Given the description of an element on the screen output the (x, y) to click on. 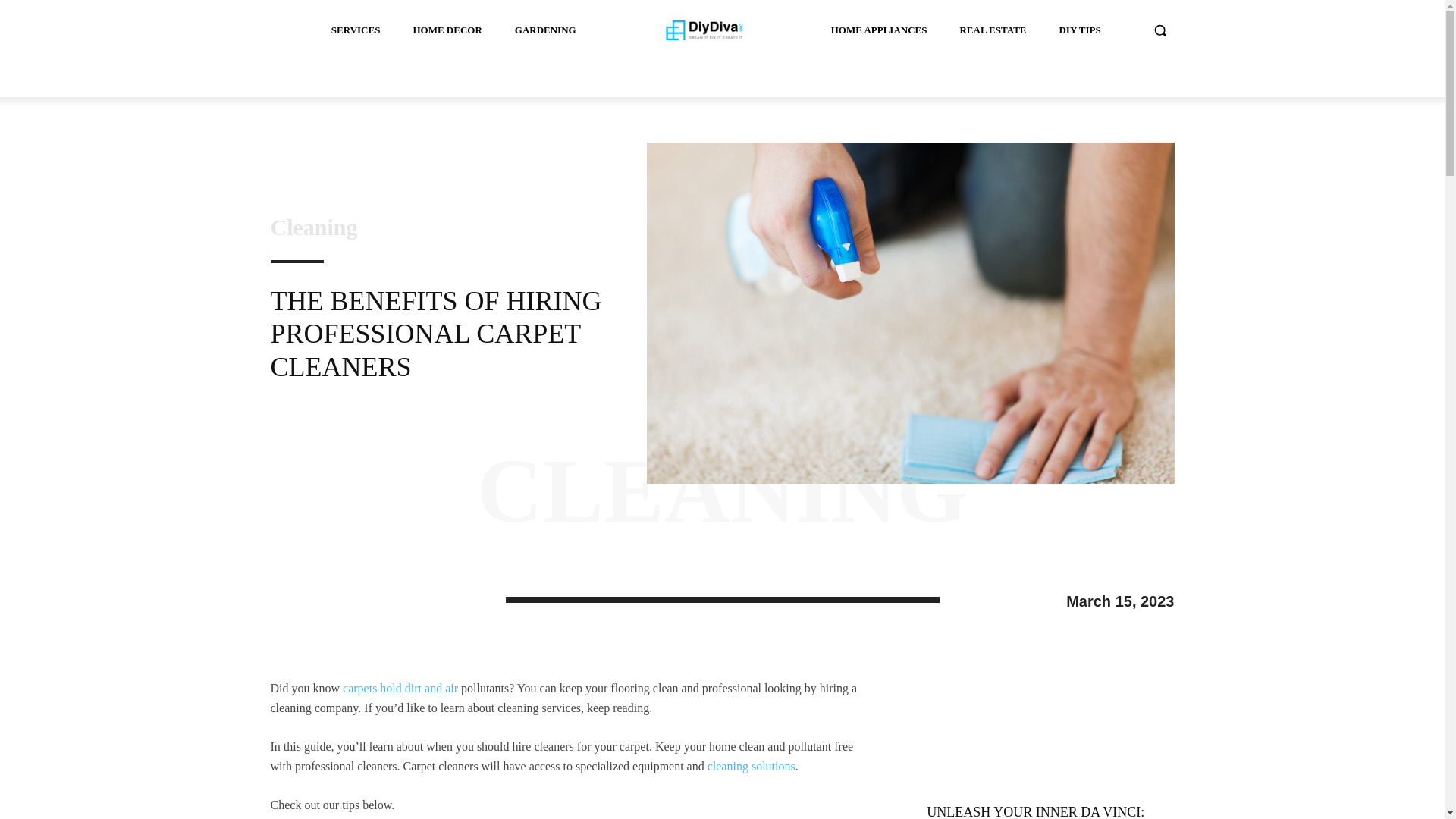
HOME DECOR (446, 30)
HOME APPLIANCES (879, 30)
REAL ESTATE (992, 30)
SERVICES (355, 30)
DIY TIPS (1079, 30)
GARDENING (544, 30)
